Given the description of an element on the screen output the (x, y) to click on. 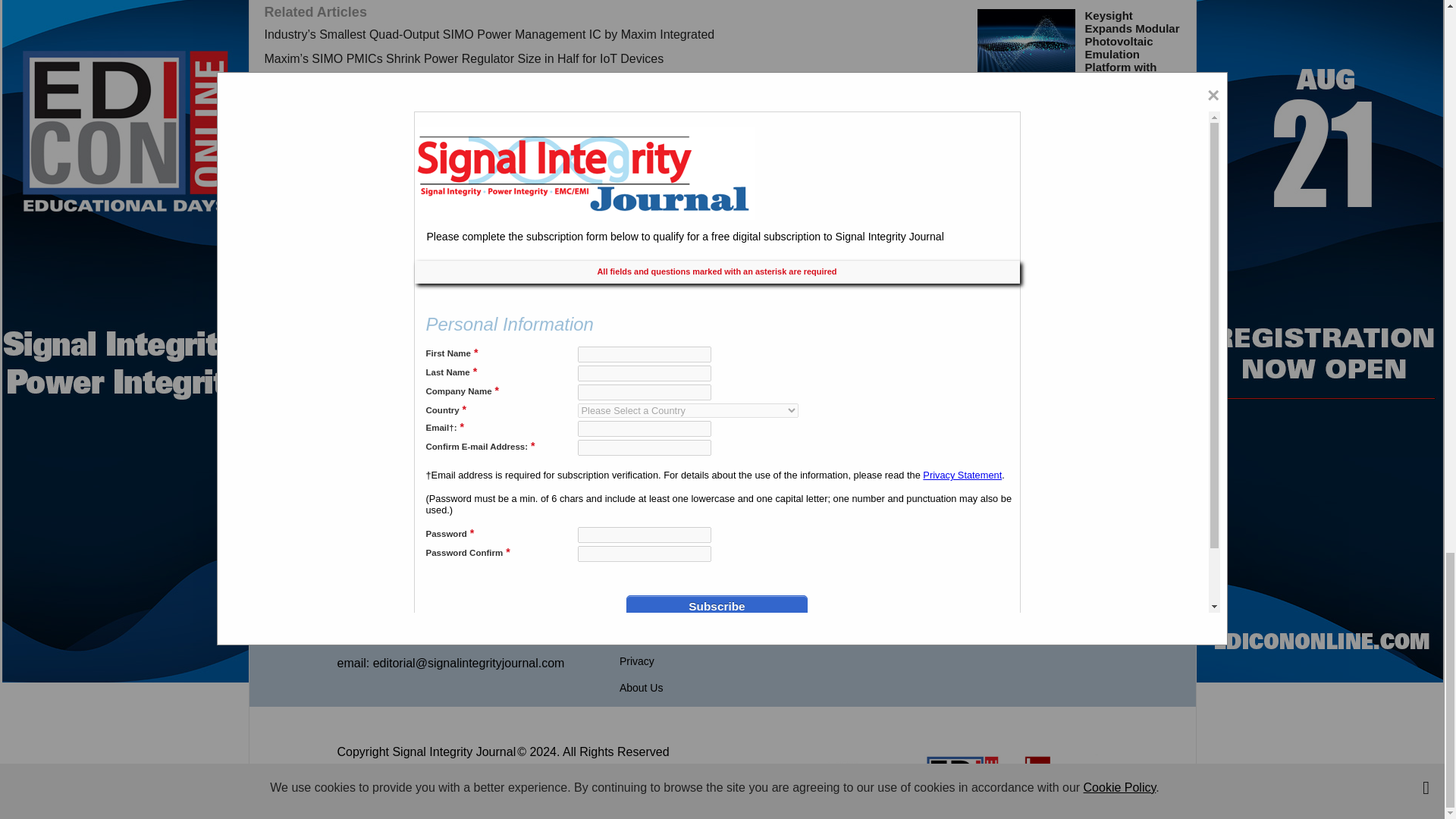
Waves 600x400 2-27-23.jpg (1025, 41)
Mobix 7-9-24.jpg (1025, 184)
Alliance Memory 7-10-24.jpg (1025, 274)
3rd party ad content (721, 450)
